Given the description of an element on the screen output the (x, y) to click on. 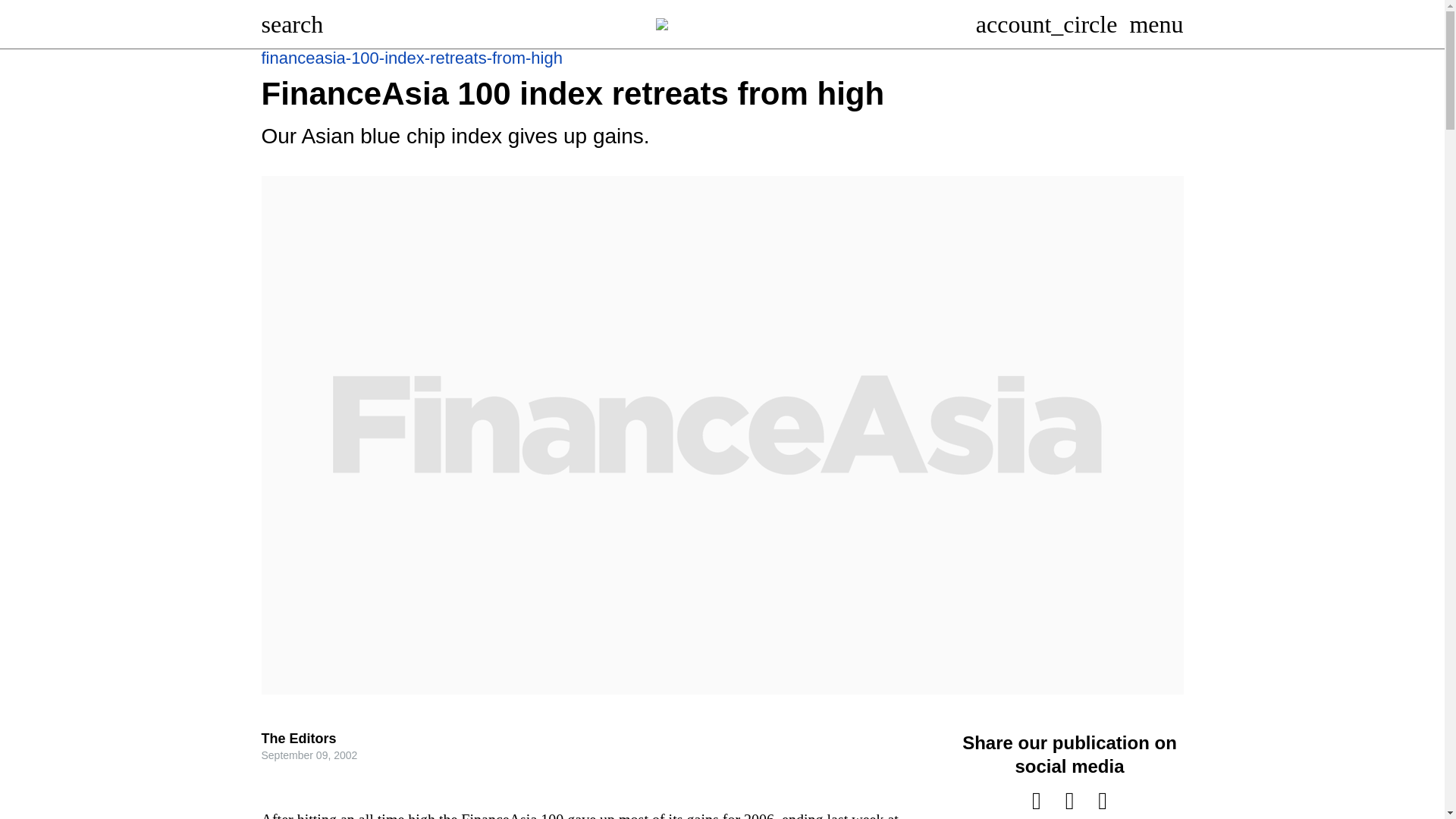
3rd party ad content (727, 107)
Search (297, 24)
Menu (1162, 24)
Sign In (1051, 24)
